Given the description of an element on the screen output the (x, y) to click on. 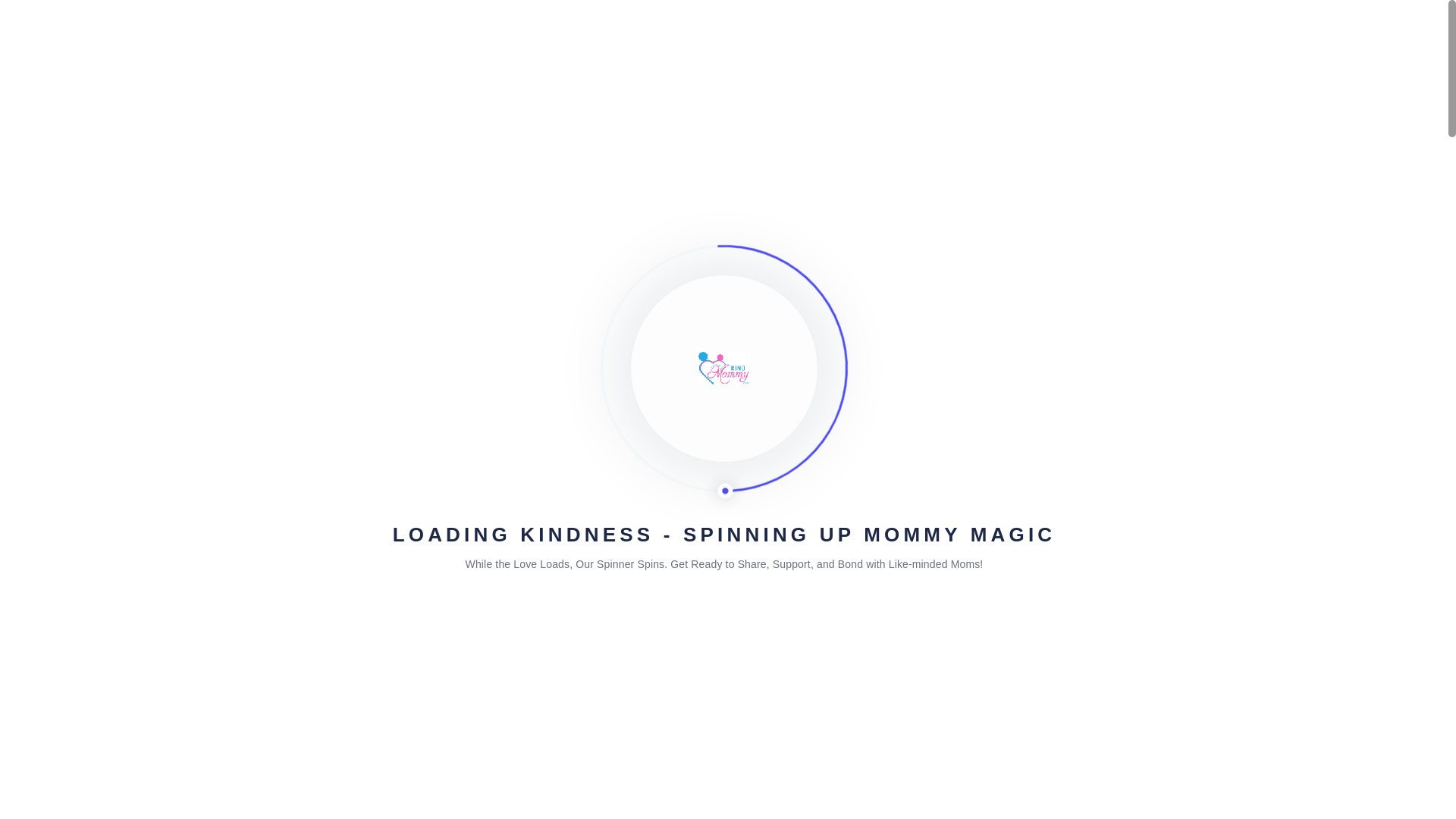
COMMUNITY (1073, 38)
Advice (716, 213)
Ask Question (882, 441)
ABOUT (886, 38)
Parenting (662, 213)
BLOG (823, 38)
Community (353, 314)
New Mom (877, 213)
Preteens and Teens (574, 314)
Suggestions (810, 213)
